Given the description of an element on the screen output the (x, y) to click on. 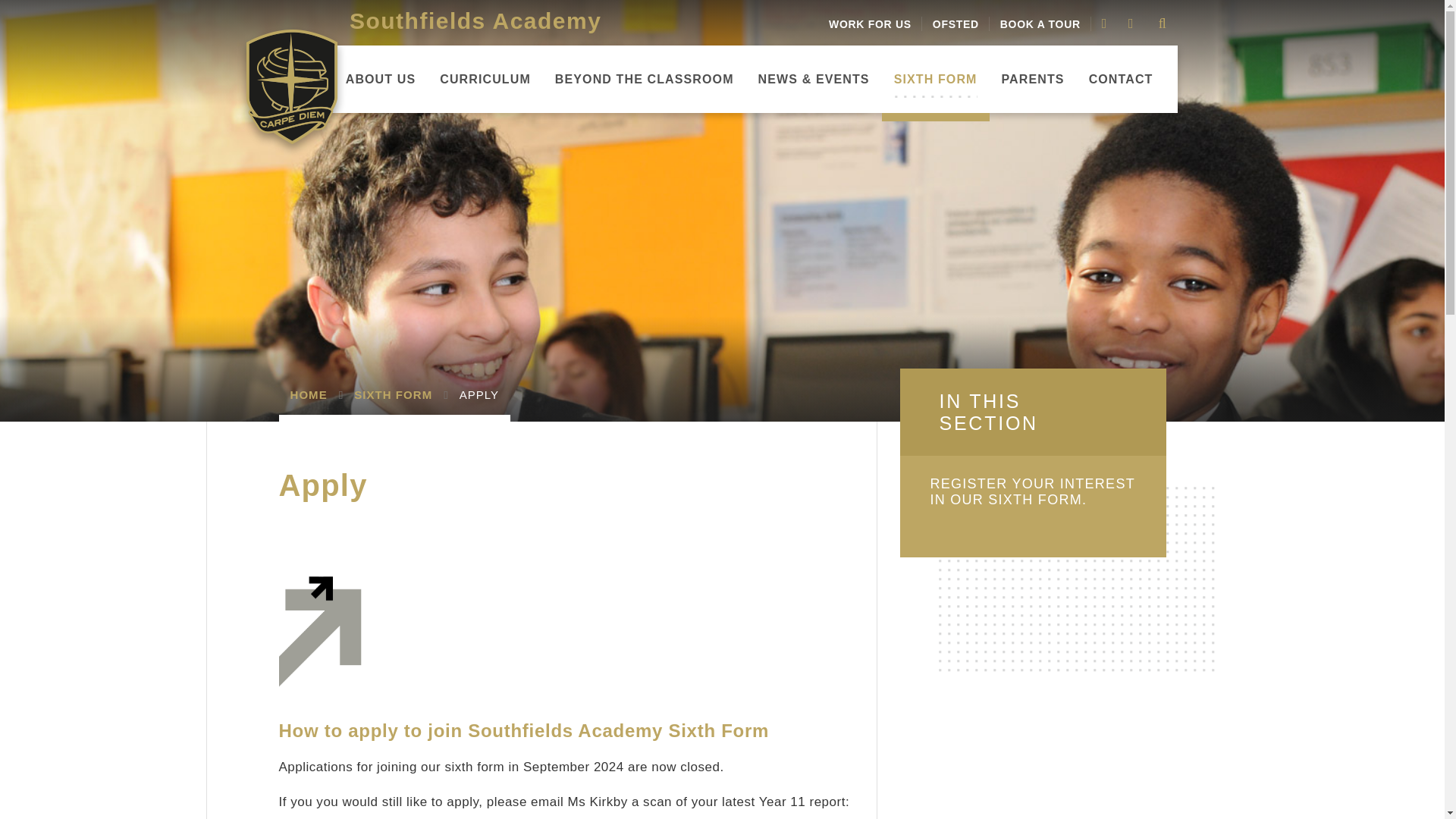
CURRICULUM (485, 79)
HOME (301, 79)
ABOUT US (380, 79)
